Given the description of an element on the screen output the (x, y) to click on. 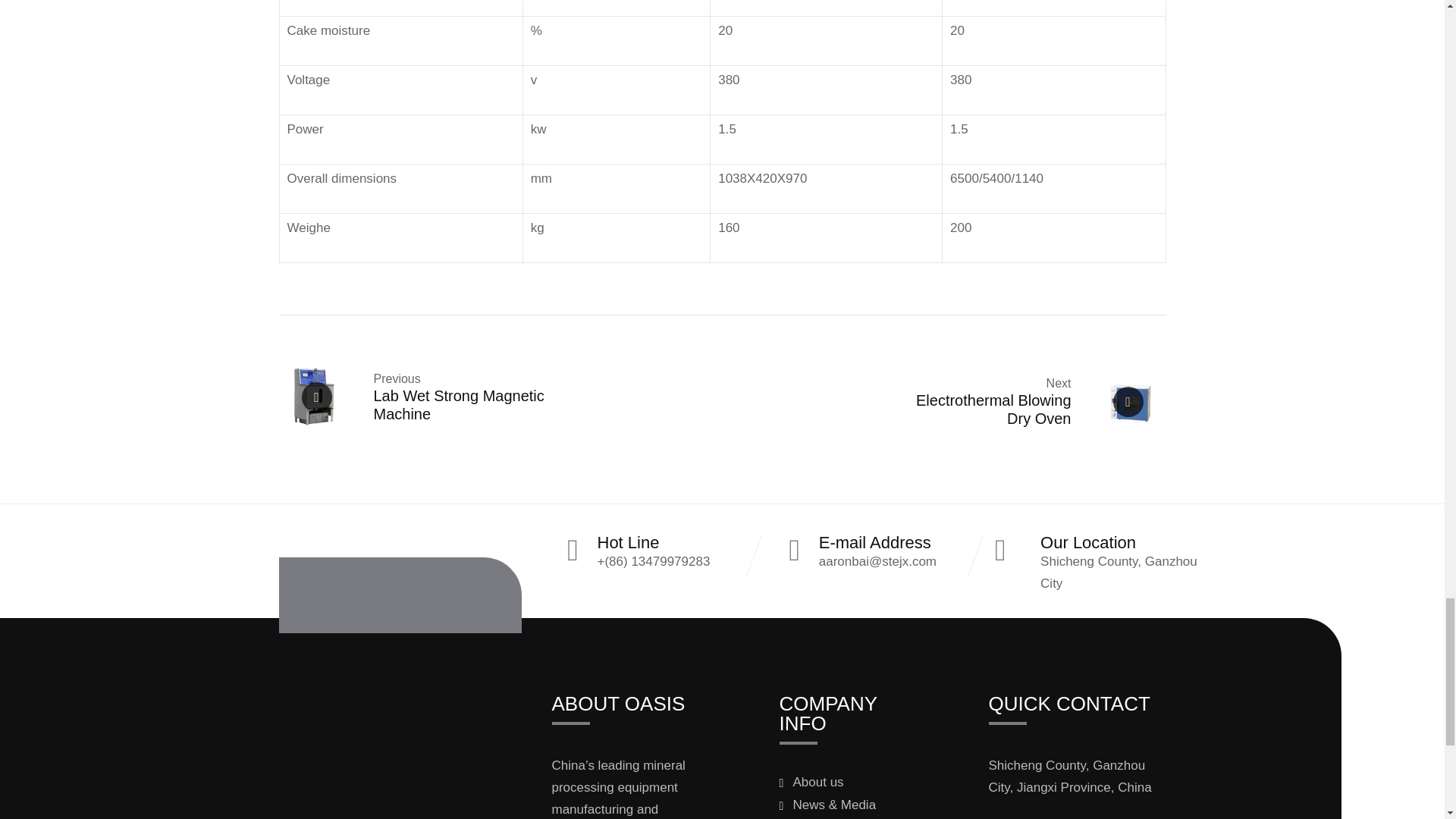
About us (839, 782)
